Given the description of an element on the screen output the (x, y) to click on. 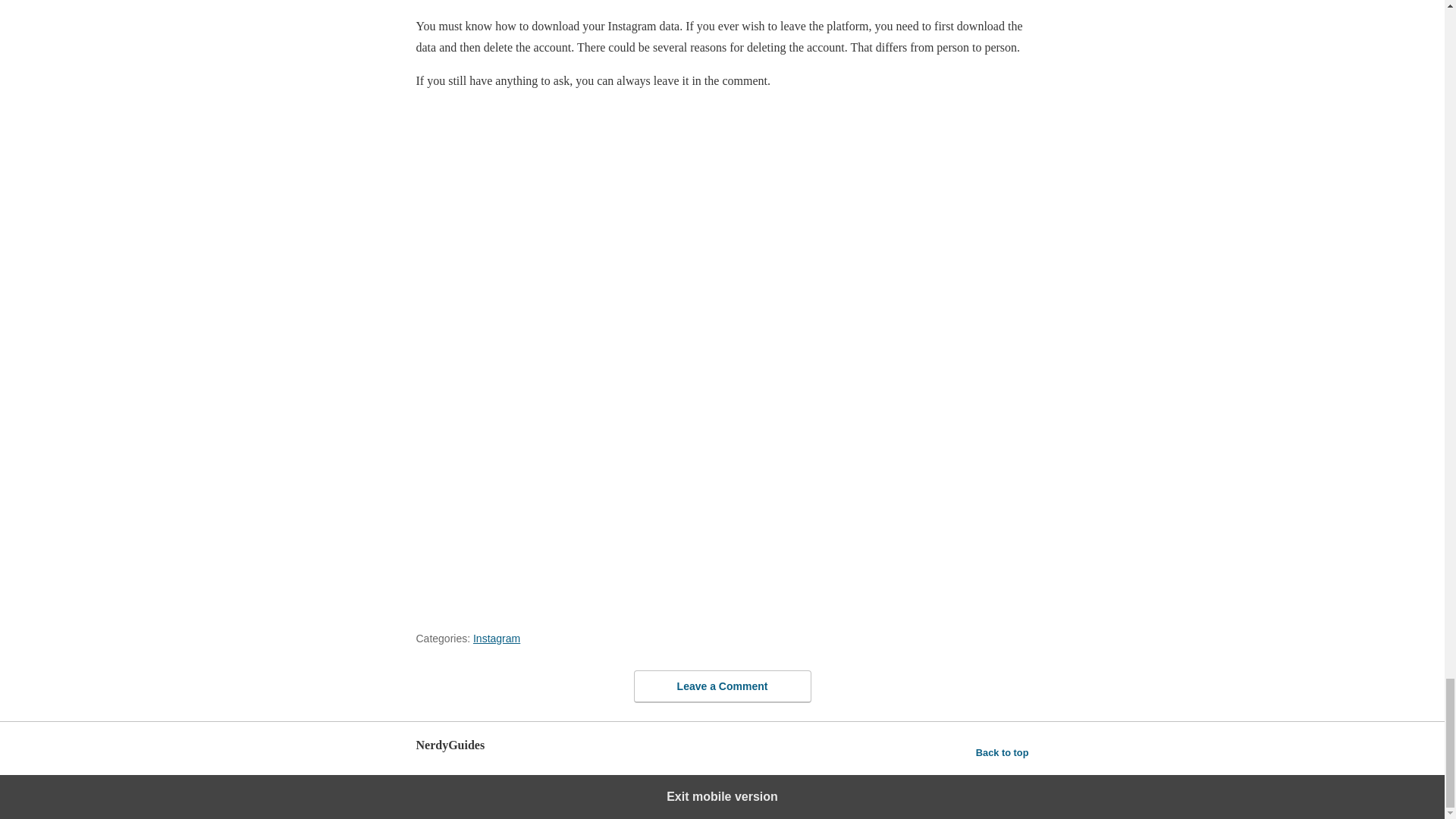
Back to top (1002, 752)
Leave a Comment (721, 686)
Instagram (496, 638)
